Given the description of an element on the screen output the (x, y) to click on. 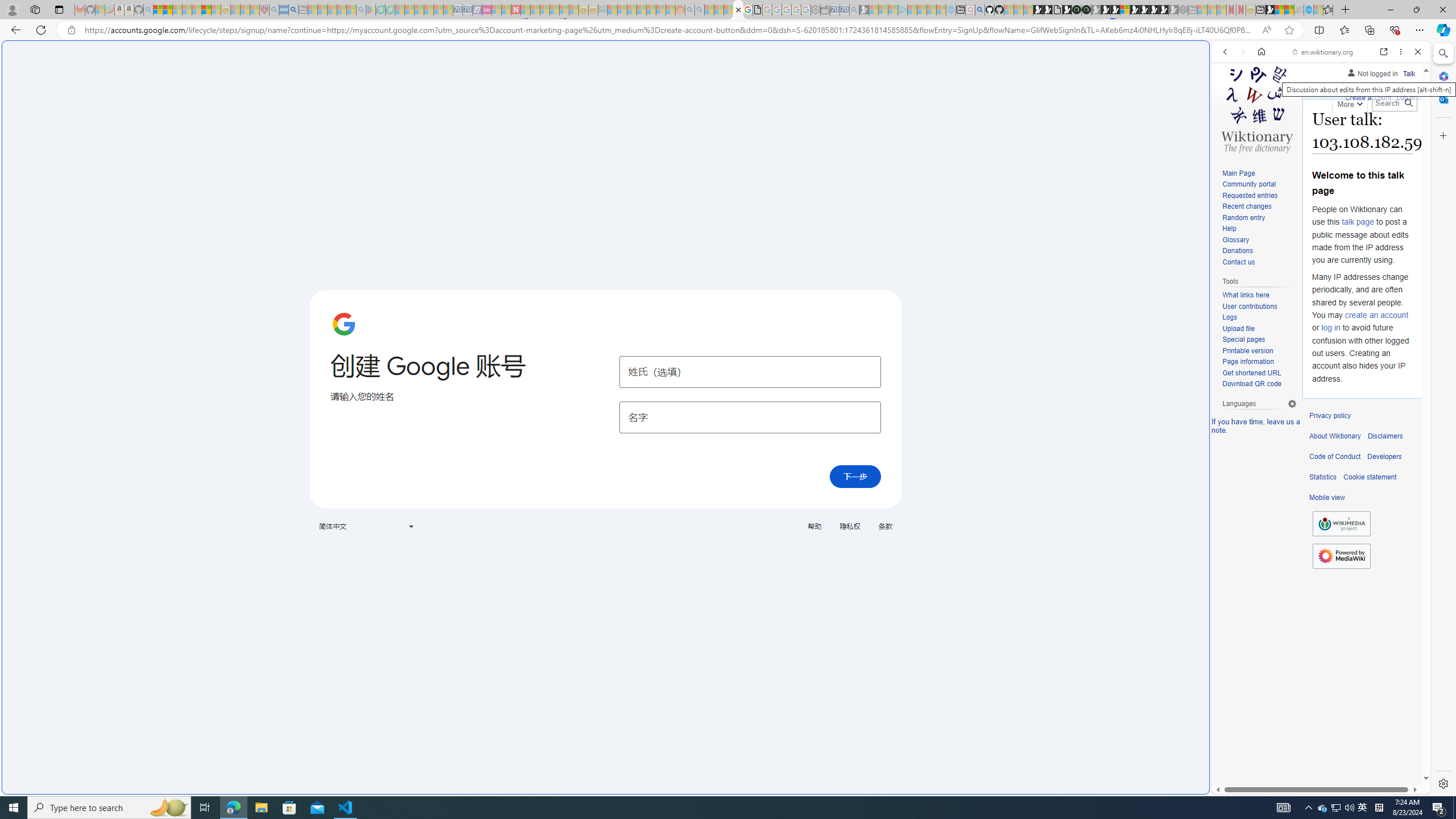
Get shortened URL (1259, 373)
Cookie statement (1369, 477)
More (1349, 101)
Upload file (1238, 328)
Talk (1408, 73)
Community portal (1259, 184)
